Given the description of an element on the screen output the (x, y) to click on. 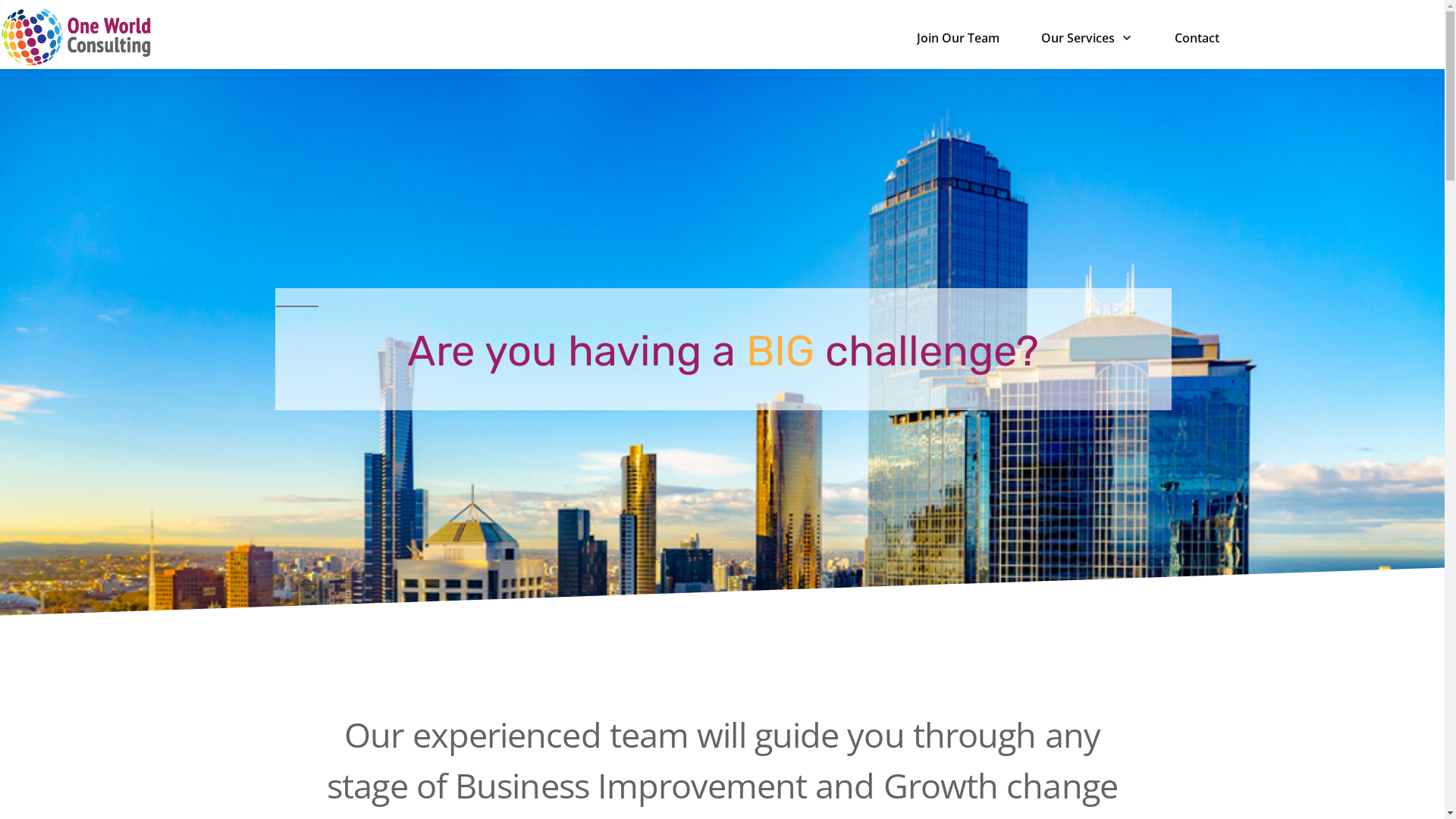
Contact Element type: text (1196, 37)
Join Our Team Element type: text (958, 37)
Our Services Element type: text (1086, 37)
owclogowithouttagline copy Element type: hover (75, 36)
